Given the description of an element on the screen output the (x, y) to click on. 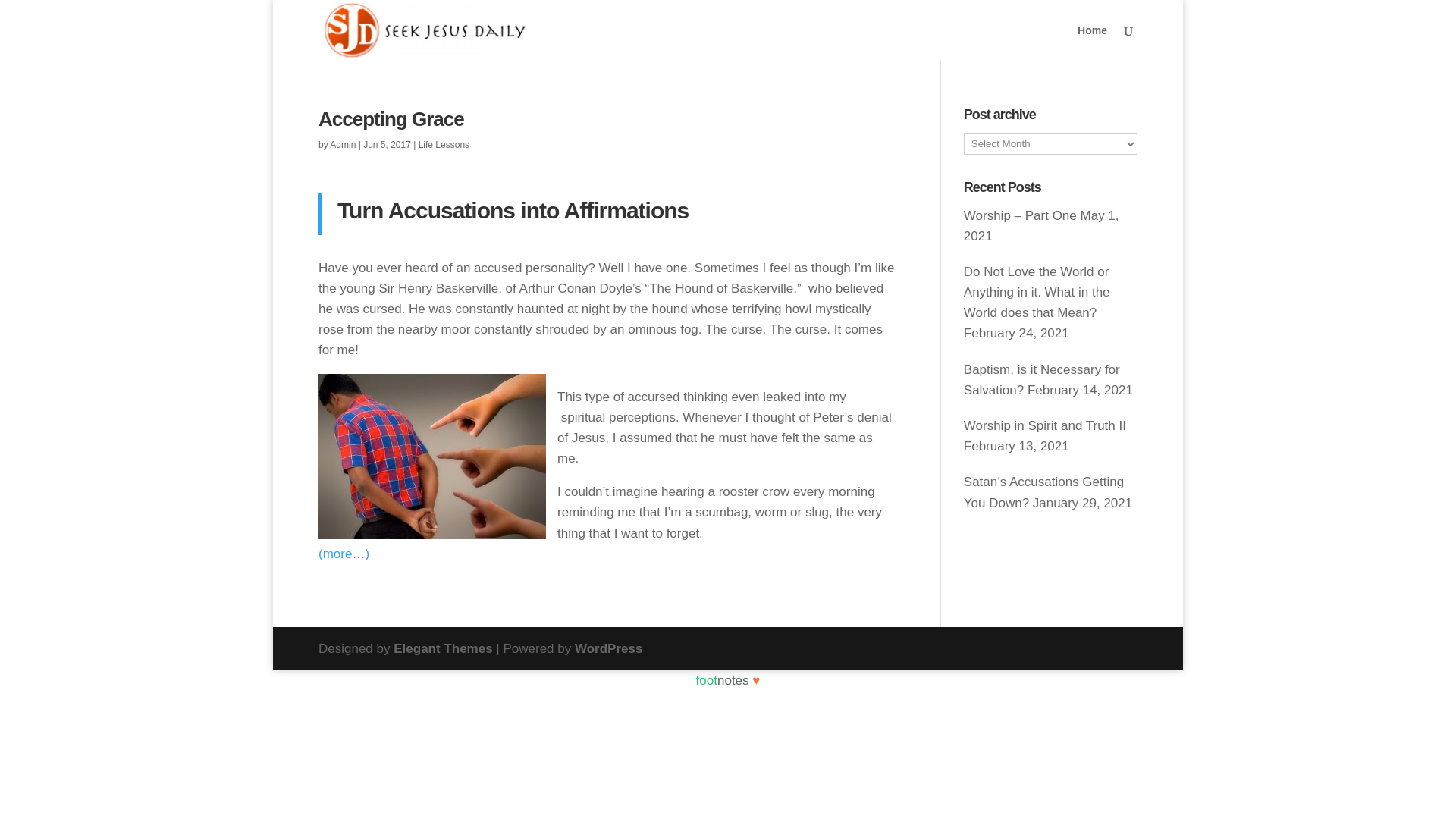
Life Lessons (443, 144)
Home (1091, 42)
Accepting Grace (391, 118)
footnotes (722, 680)
Posts by Admin (342, 144)
WordPress (608, 648)
Worship in Spirit and Truth II (1044, 425)
Baptism, is it Necessary for Salvation? (1041, 379)
Elegant Themes (442, 648)
Admin (342, 144)
Premium WordPress Themes (442, 648)
